Given the description of an element on the screen output the (x, y) to click on. 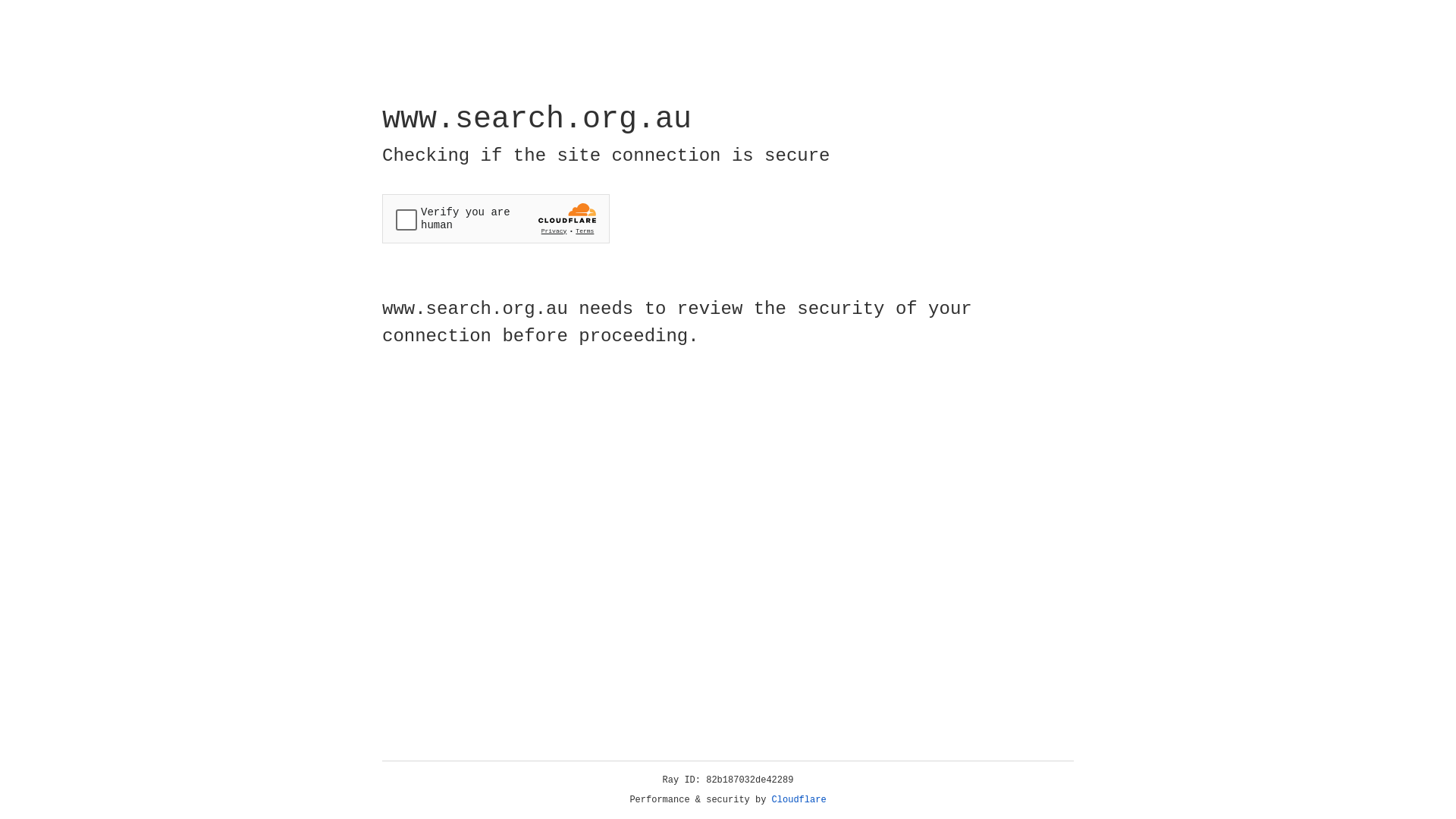
Widget containing a Cloudflare security challenge Element type: hover (495, 218)
Cloudflare Element type: text (798, 799)
